Given the description of an element on the screen output the (x, y) to click on. 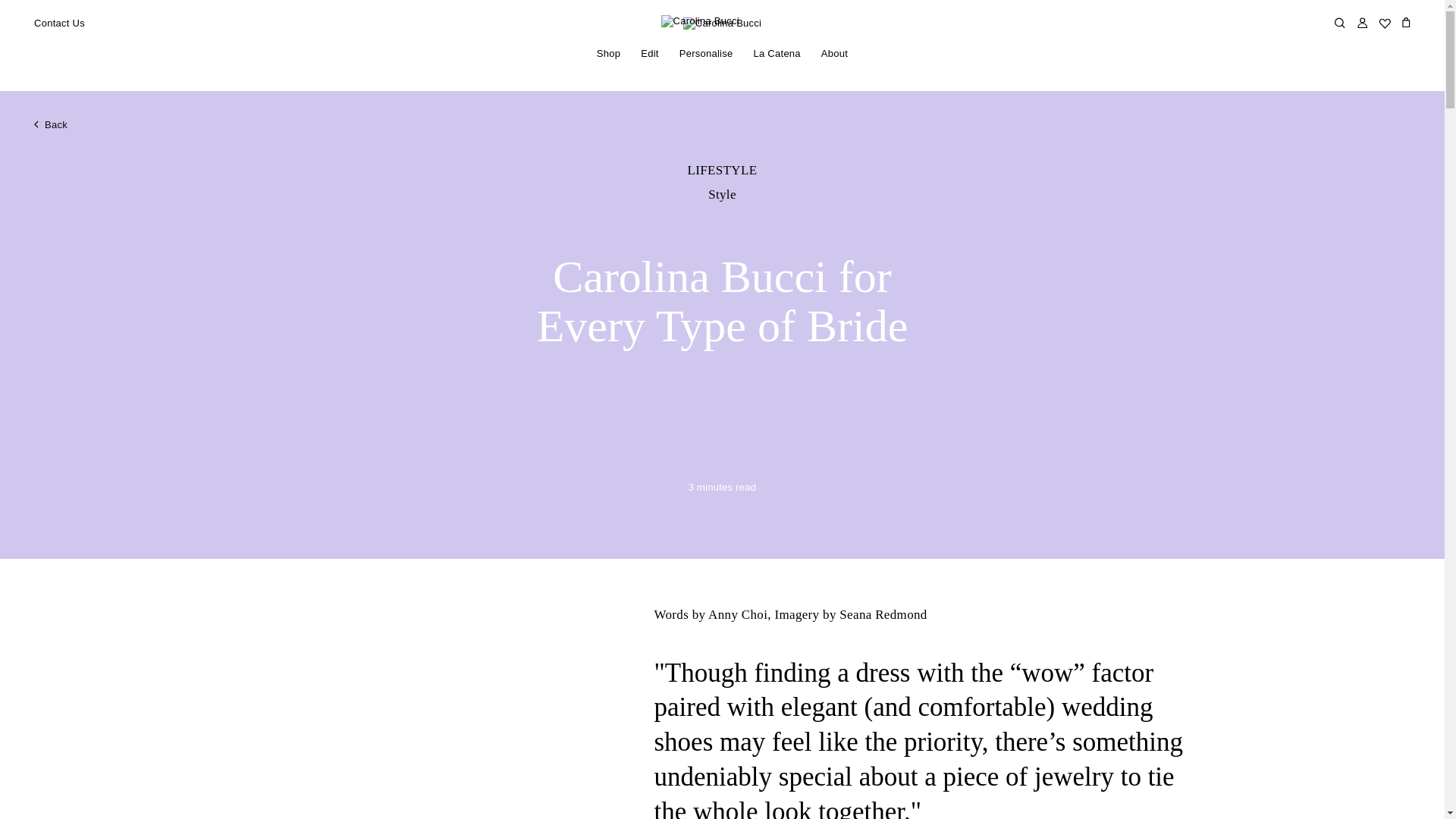
Personalise (705, 53)
Edit (649, 53)
Shop (608, 53)
Contact Us (58, 23)
About (833, 53)
La Catena (776, 53)
